Given the description of an element on the screen output the (x, y) to click on. 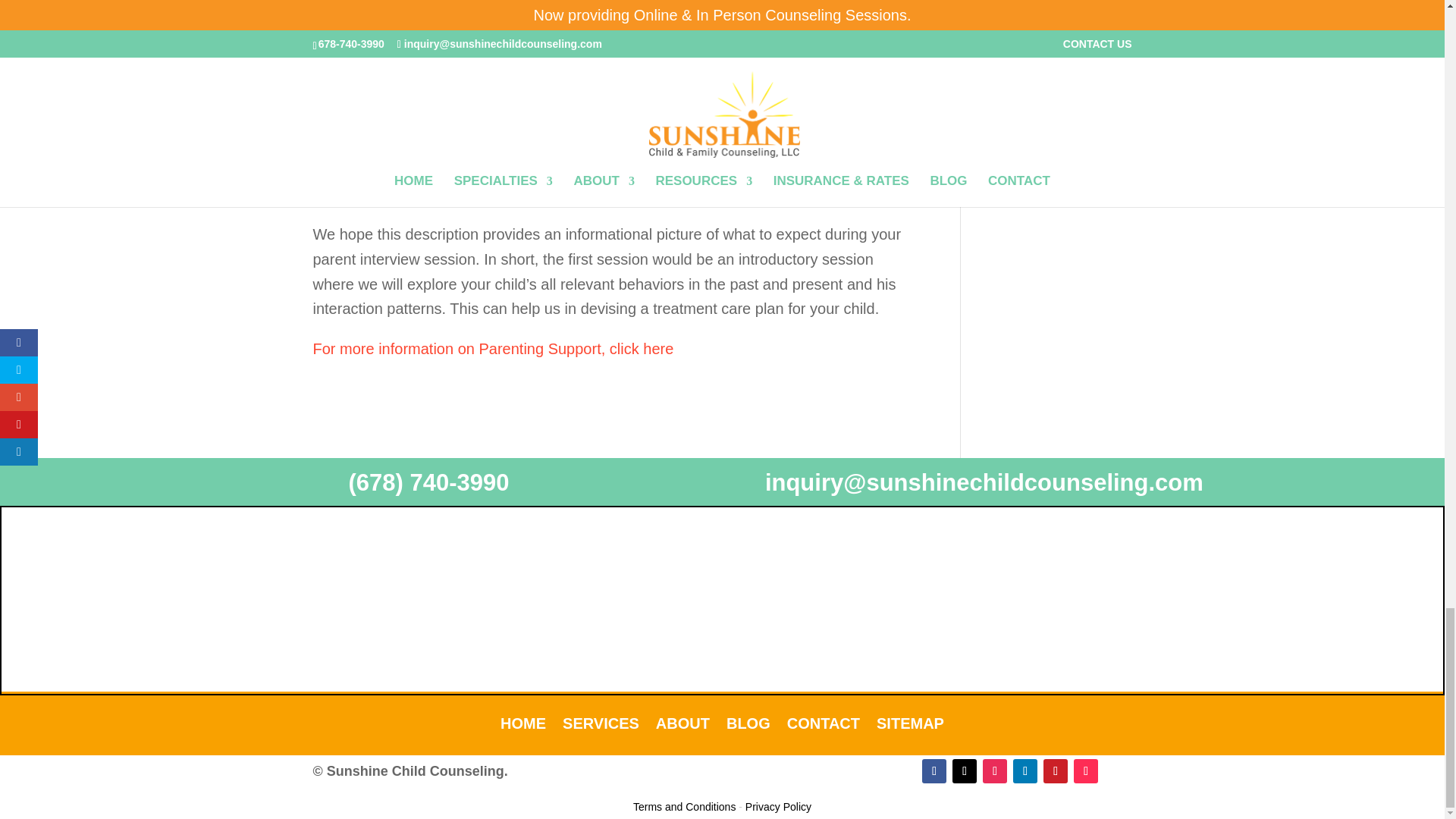
Follow on Facebook (933, 770)
Follow on Pinterest (1055, 770)
Follow on LinkedIn (1024, 770)
Follow on TikTok (1085, 770)
Follow on Instagram (994, 770)
Follow on X (964, 770)
